Given the description of an element on the screen output the (x, y) to click on. 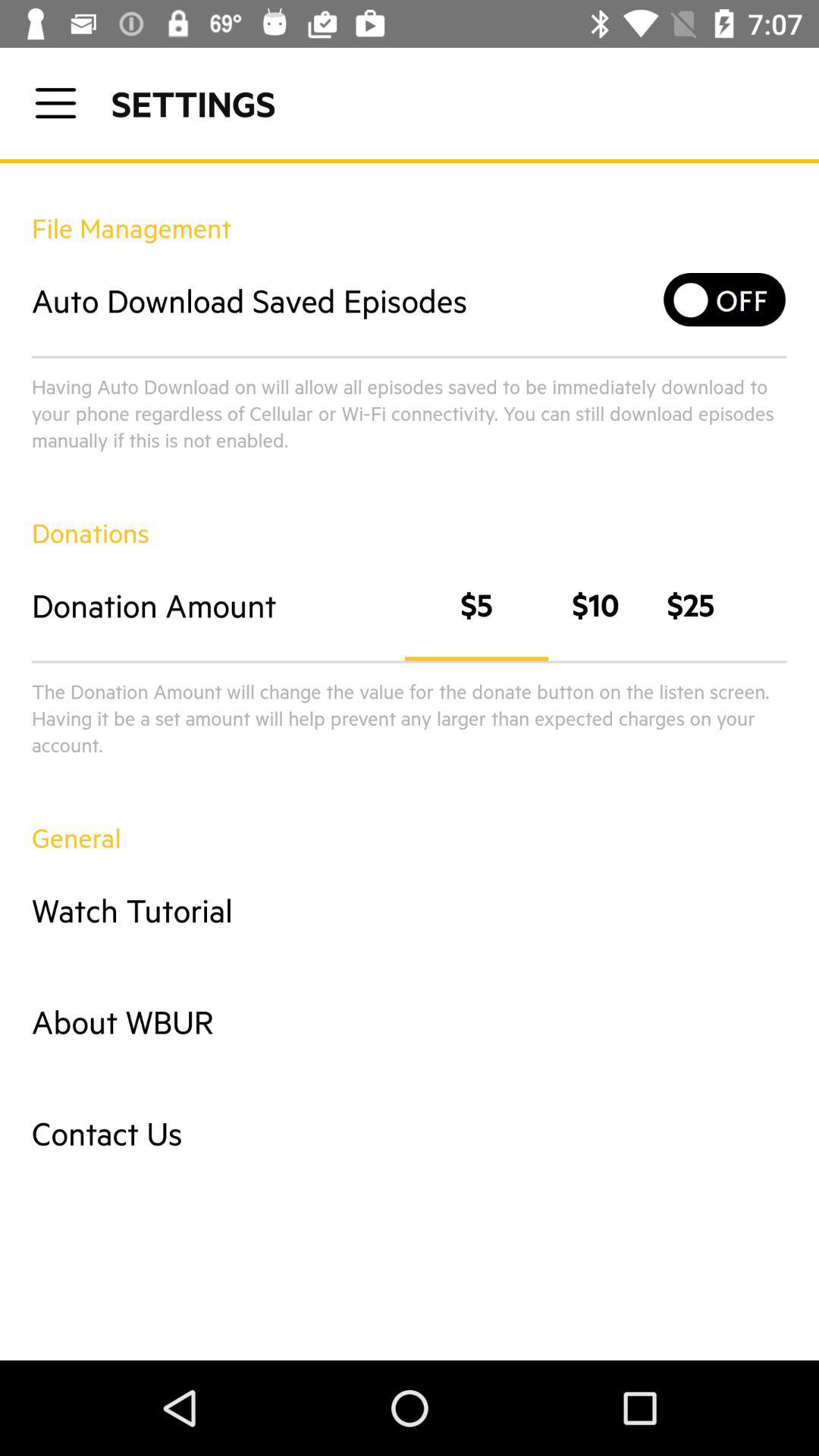
toggle auto download saved episodes (725, 300)
